Given the description of an element on the screen output the (x, y) to click on. 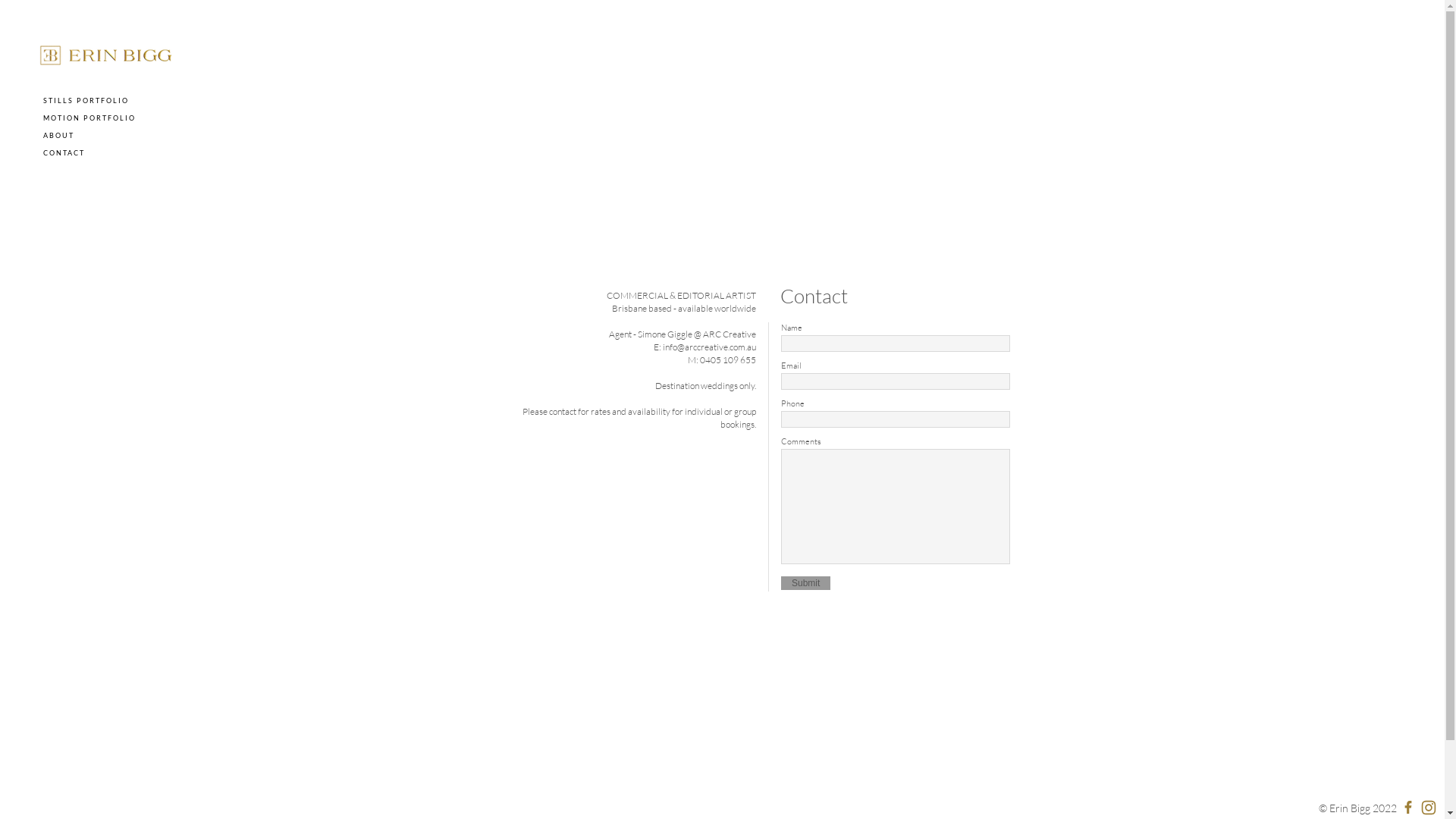
Submit Element type: text (805, 582)
ABOUT Element type: text (58, 135)
MOTION PORTFOLIO Element type: text (89, 117)
CONTACT Element type: text (63, 152)
STILLS PORTFOLIO Element type: text (85, 100)
